Given the description of an element on the screen output the (x, y) to click on. 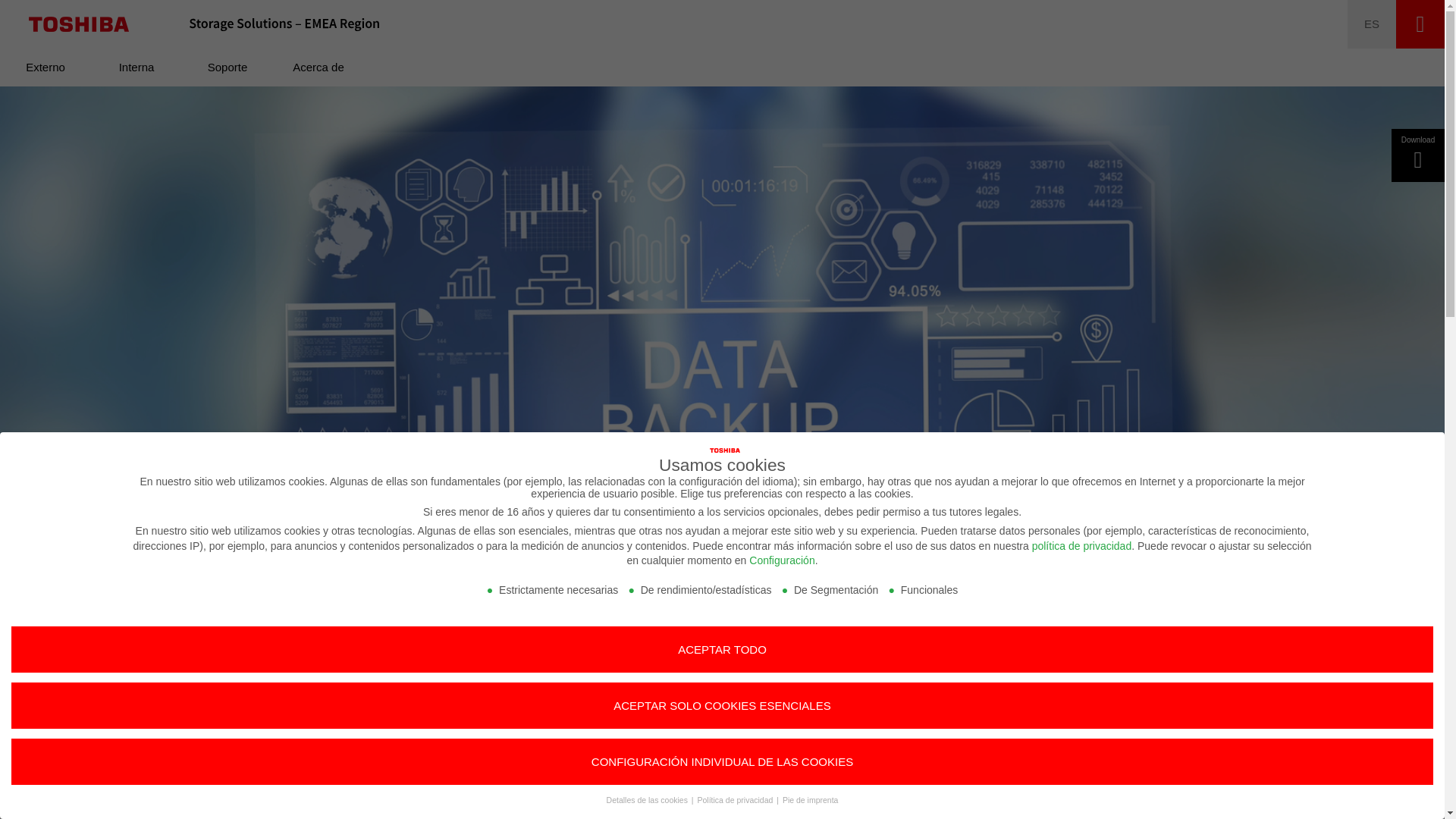
Externo (45, 67)
ES (1372, 24)
Interna (136, 67)
Soporte (227, 67)
Abrir las preferencias de las cookies (32, 799)
Acerca de (318, 67)
Toshiba Germany Top Page (79, 23)
